Given the description of an element on the screen output the (x, y) to click on. 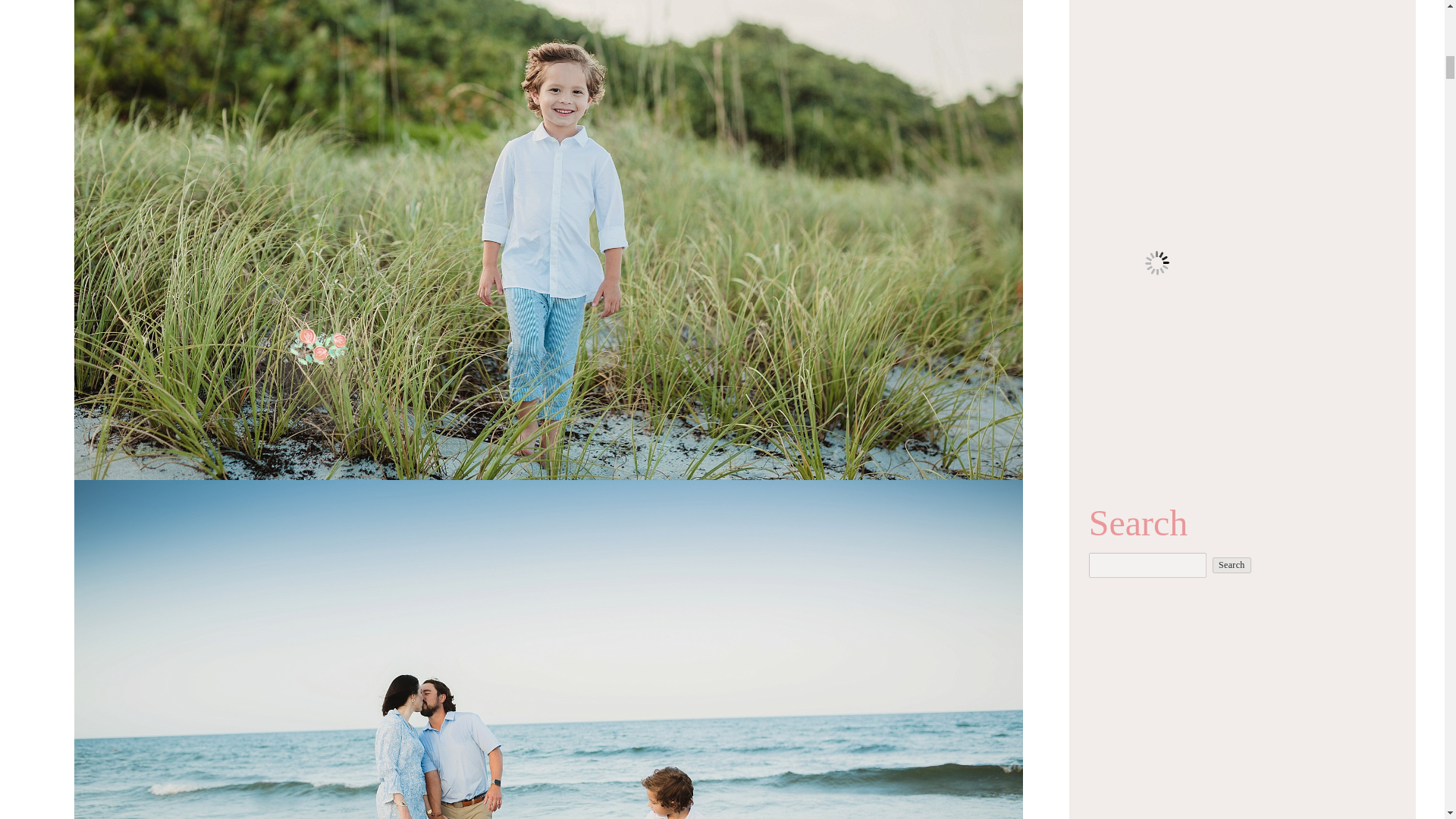
Search (1231, 565)
